Given the description of an element on the screen output the (x, y) to click on. 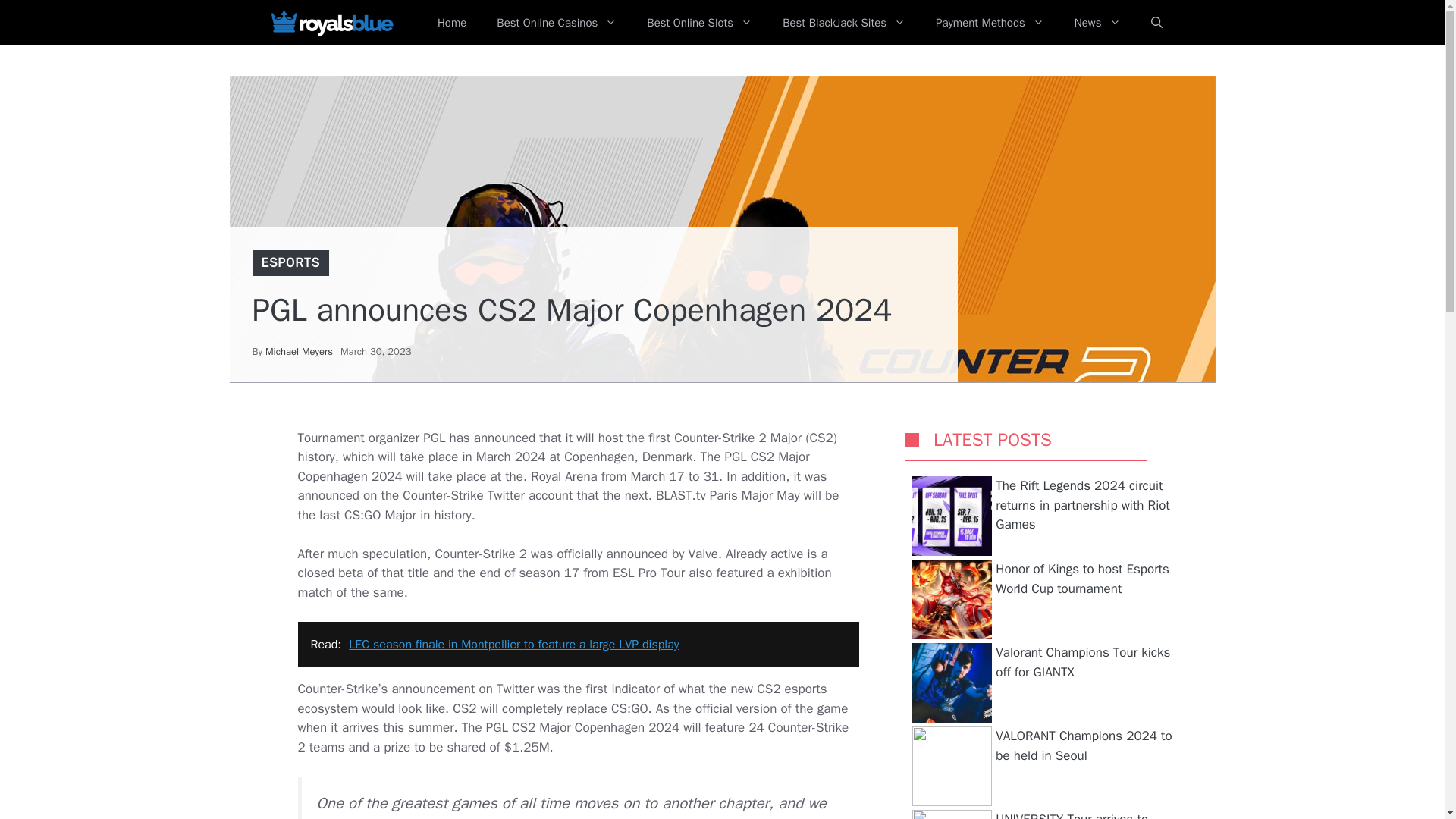
ESPORTS (289, 262)
Best BlackJack Sites (843, 22)
Payment Methods (989, 22)
Best Online Casinos (556, 22)
SORRY, YOUR BROWSER DOES NOT SUPPORT INLINE SVG. (911, 440)
Michael Meyers (298, 350)
News (1097, 22)
Home (451, 22)
Royals Blue (331, 22)
